Given the description of an element on the screen output the (x, y) to click on. 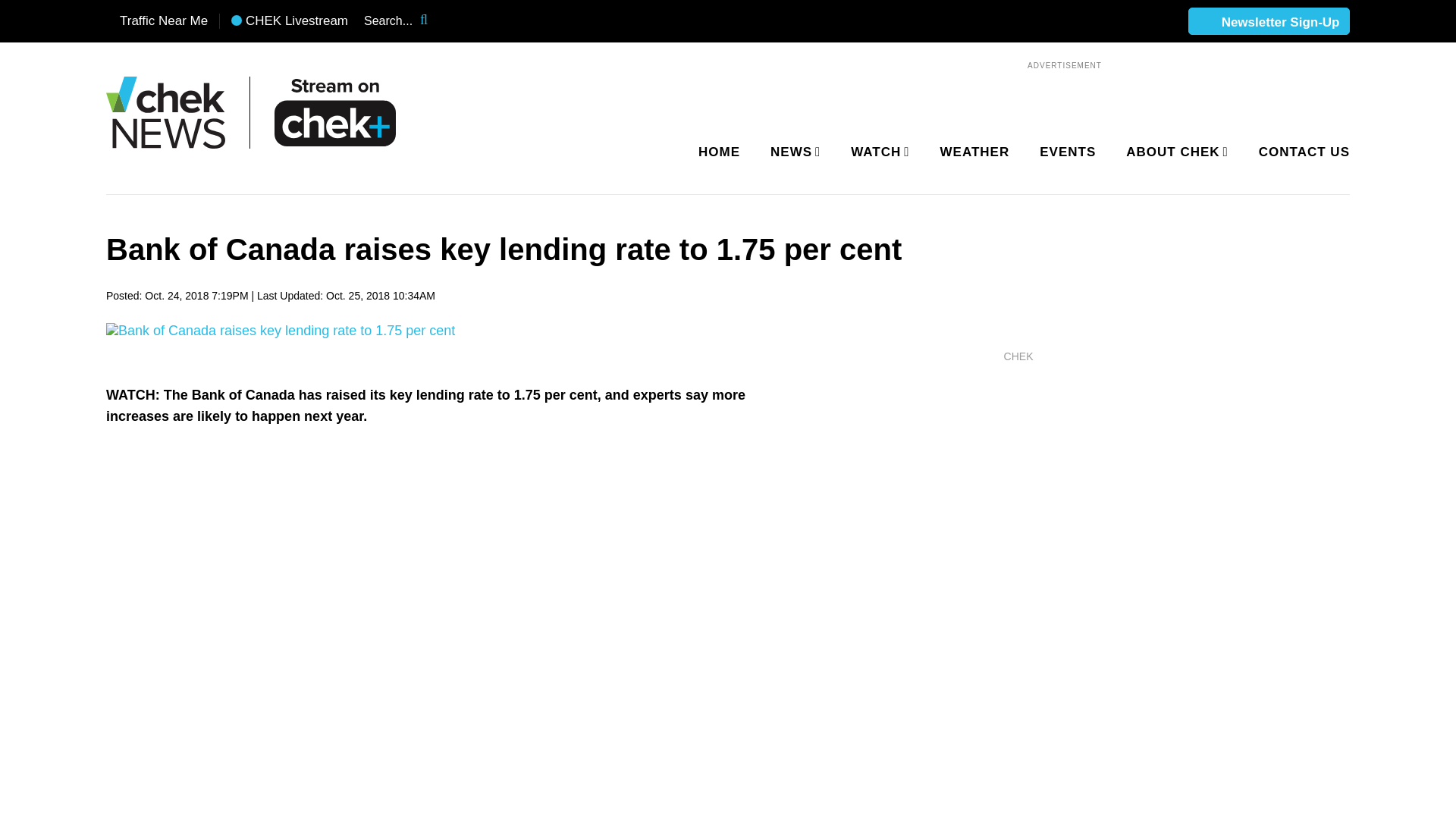
Newsletter Sign-Up (1268, 22)
Traffic Near Me (157, 20)
HOME (718, 152)
Search (434, 21)
CHEK Livestream (289, 20)
NEWS (792, 152)
